Given the description of an element on the screen output the (x, y) to click on. 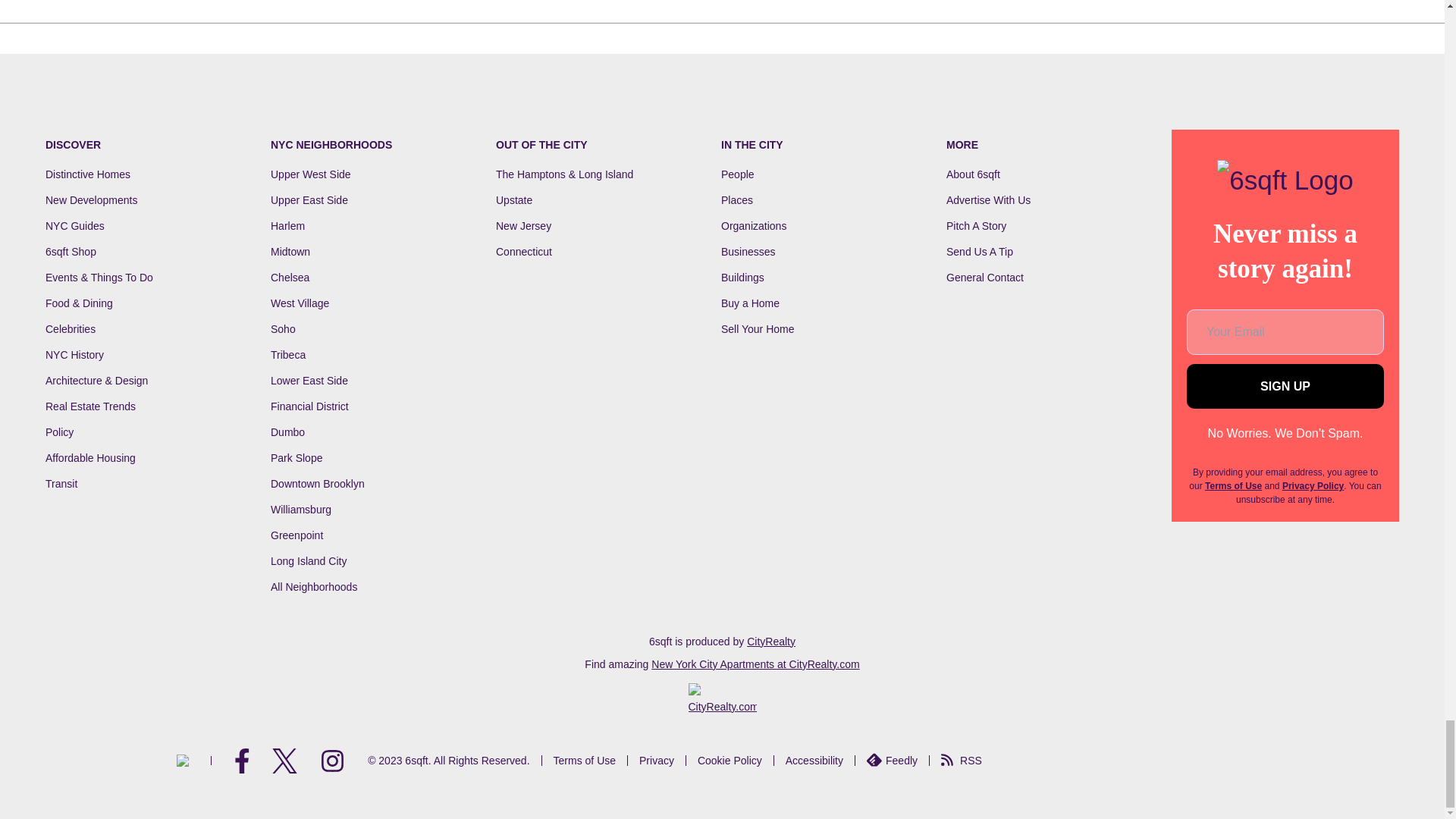
SIGN UP (1285, 385)
